Given the description of an element on the screen output the (x, y) to click on. 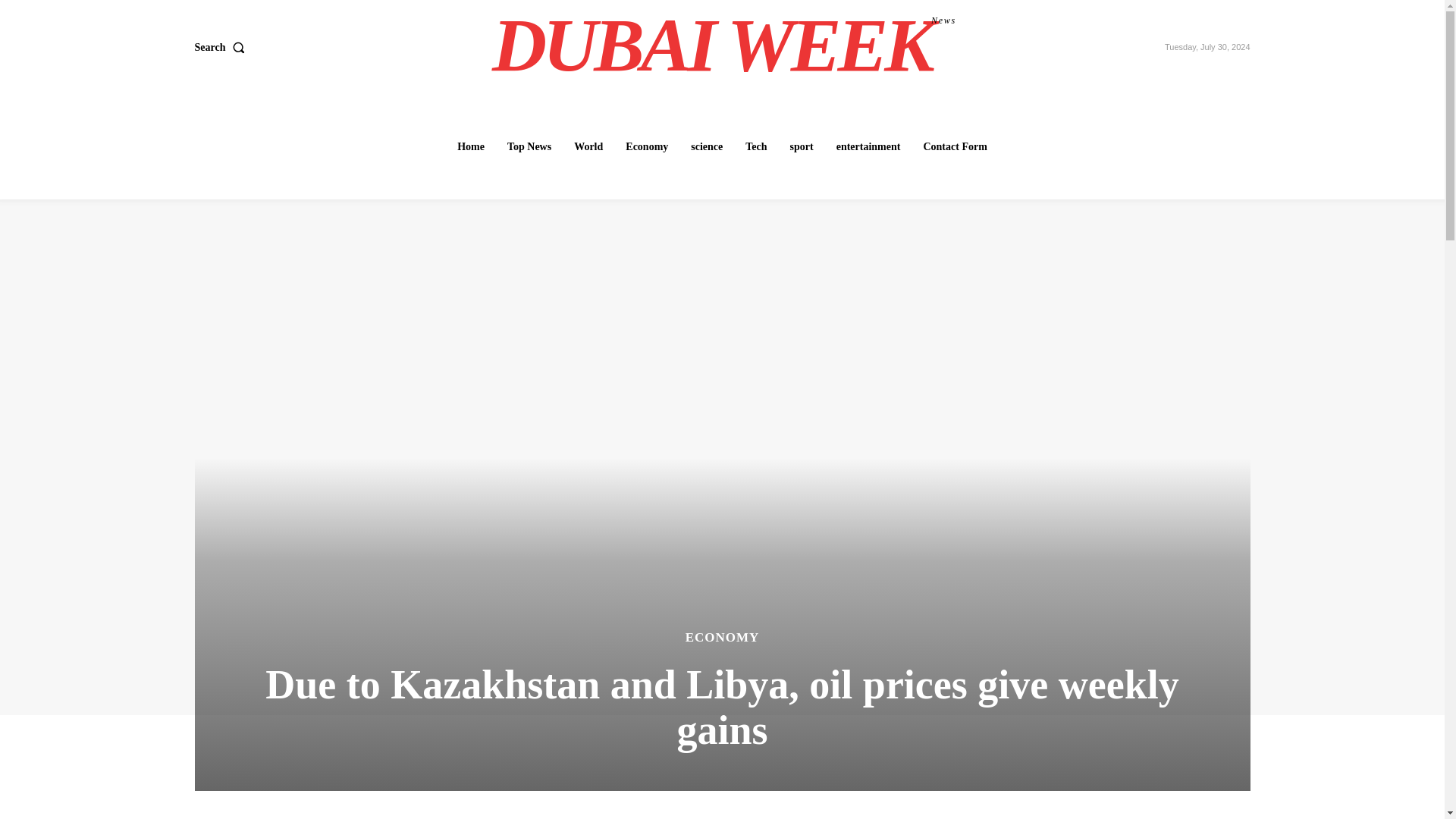
World (588, 146)
sport (802, 146)
Economy (646, 146)
Contact Form (954, 146)
Home (470, 146)
Top News (529, 146)
Tech (756, 146)
science (706, 146)
Search (221, 47)
entertainment (868, 146)
